Given the description of an element on the screen output the (x, y) to click on. 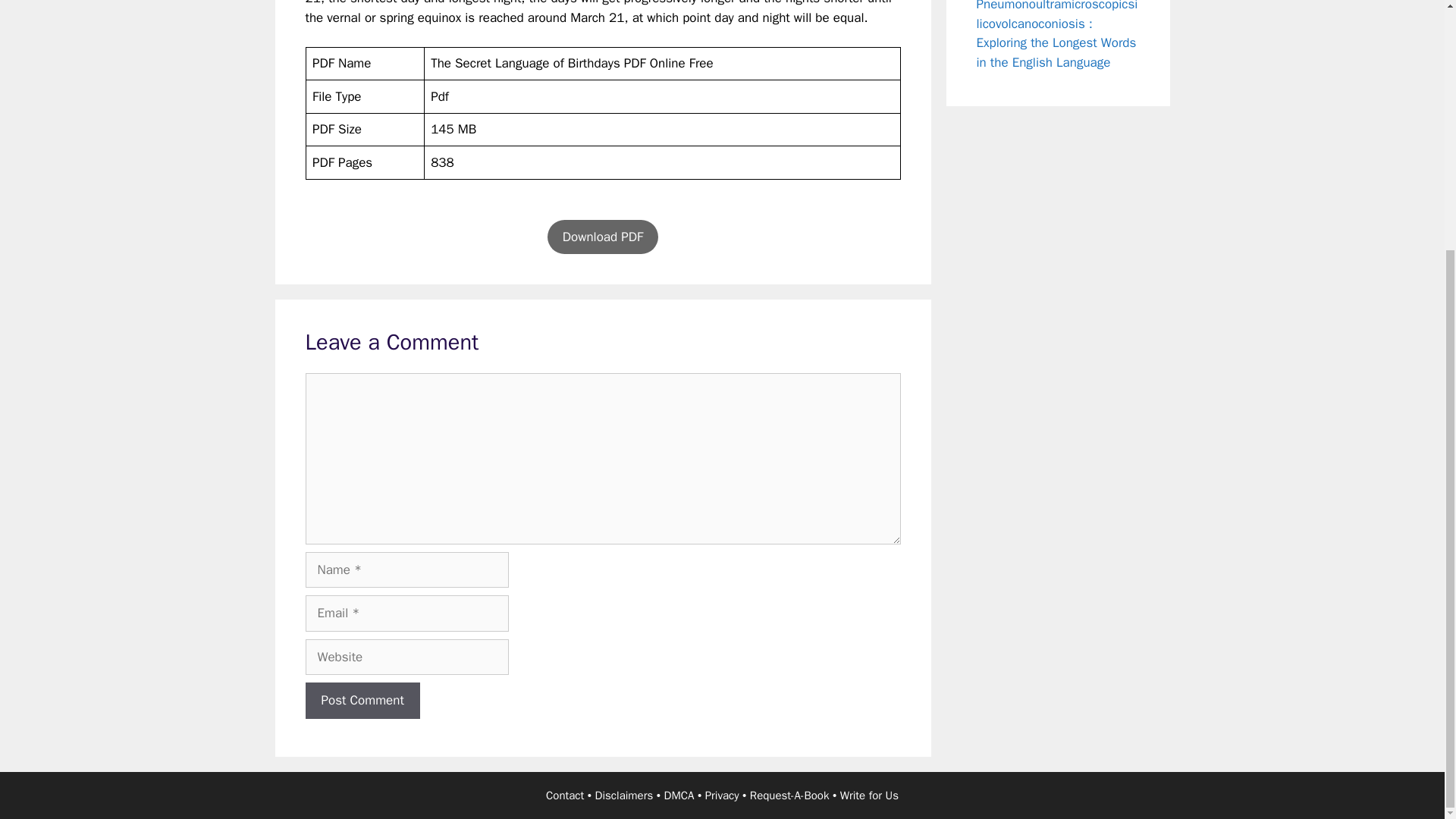
Contact (564, 795)
Post Comment (361, 700)
DMCA (678, 795)
Request-A-Book (789, 795)
Write for Us (869, 795)
Disclaimers (624, 795)
Post Comment (361, 700)
Download PDF (602, 237)
Privacy (721, 795)
